Given the description of an element on the screen output the (x, y) to click on. 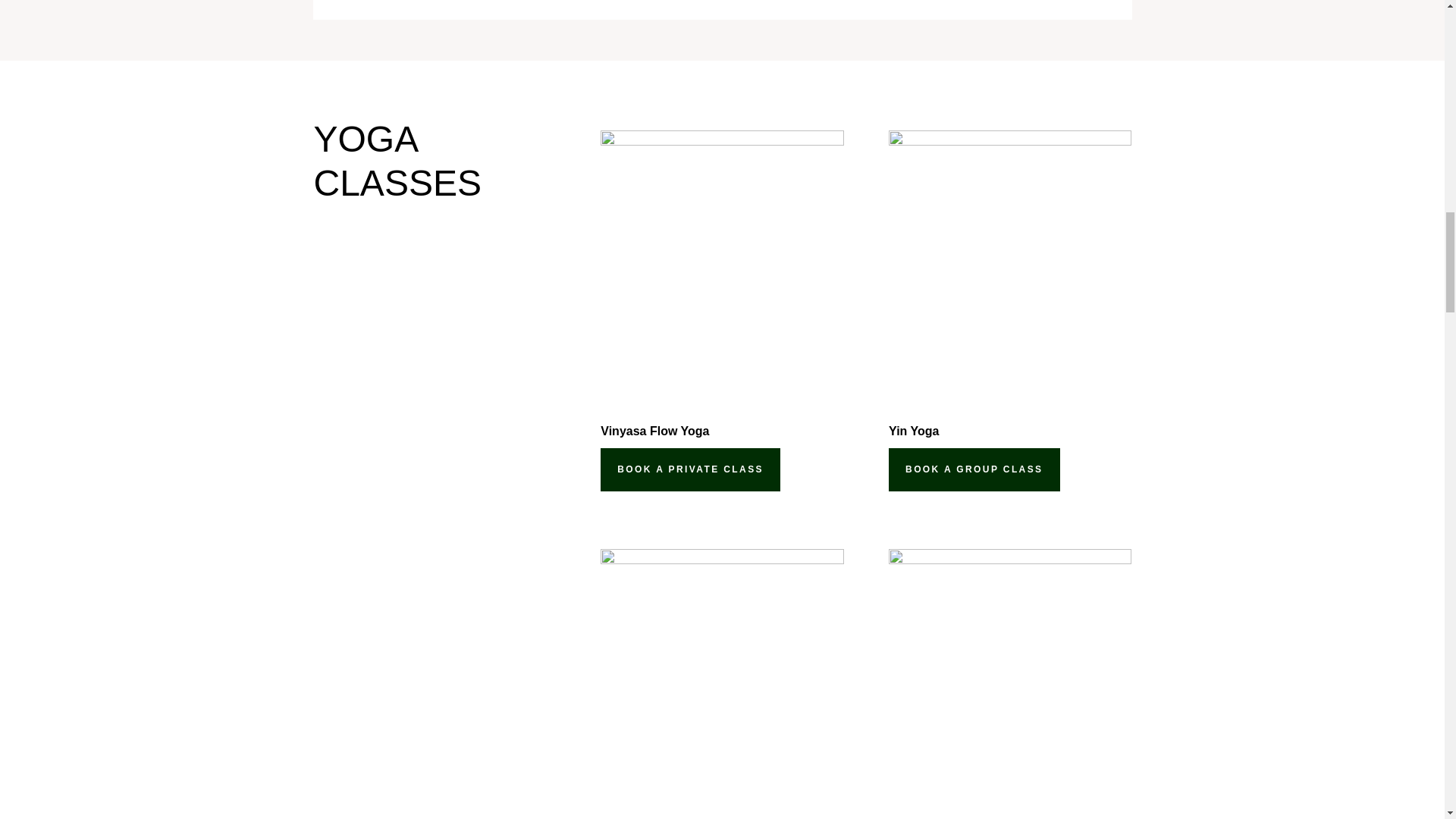
yin yoga (1009, 265)
calm flow yoga (1009, 683)
vinyasa flow (721, 265)
BOOK A PRIVATE CLASS (689, 468)
hatha yoga (721, 683)
BOOK A GROUP CLASS (973, 468)
